Given the description of an element on the screen output the (x, y) to click on. 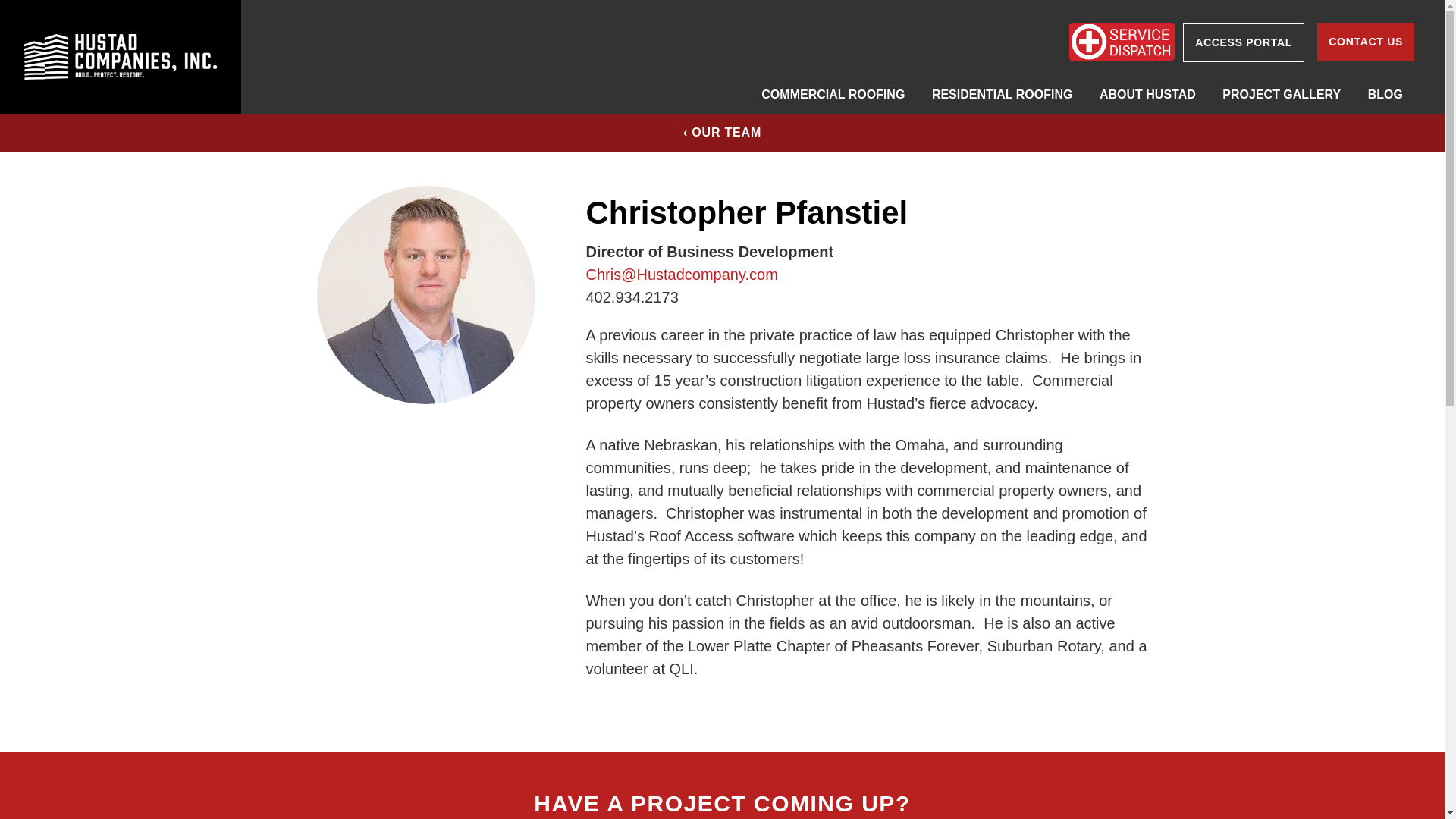
BLOG (1384, 94)
CONTACT US (1365, 41)
ACCESS PORTAL (1243, 42)
PROJECT GALLERY (1281, 94)
RESIDENTIAL ROOFING (1002, 94)
ABOUT HUSTAD (1147, 94)
COMMERCIAL ROOFING (832, 94)
